Given the description of an element on the screen output the (x, y) to click on. 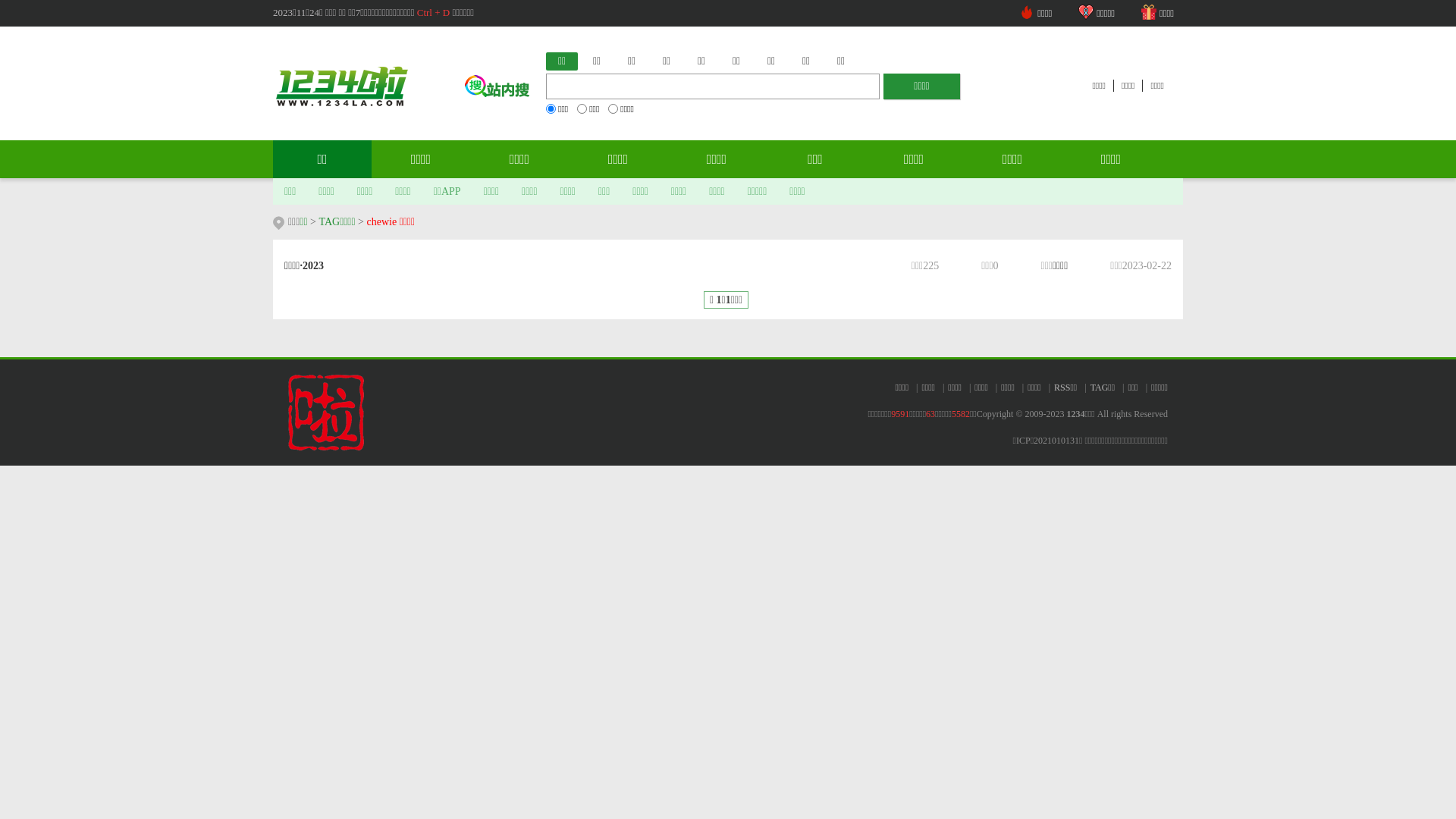
on Element type: text (613, 108)
on Element type: text (550, 108)
on Element type: text (581, 108)
